Given the description of an element on the screen output the (x, y) to click on. 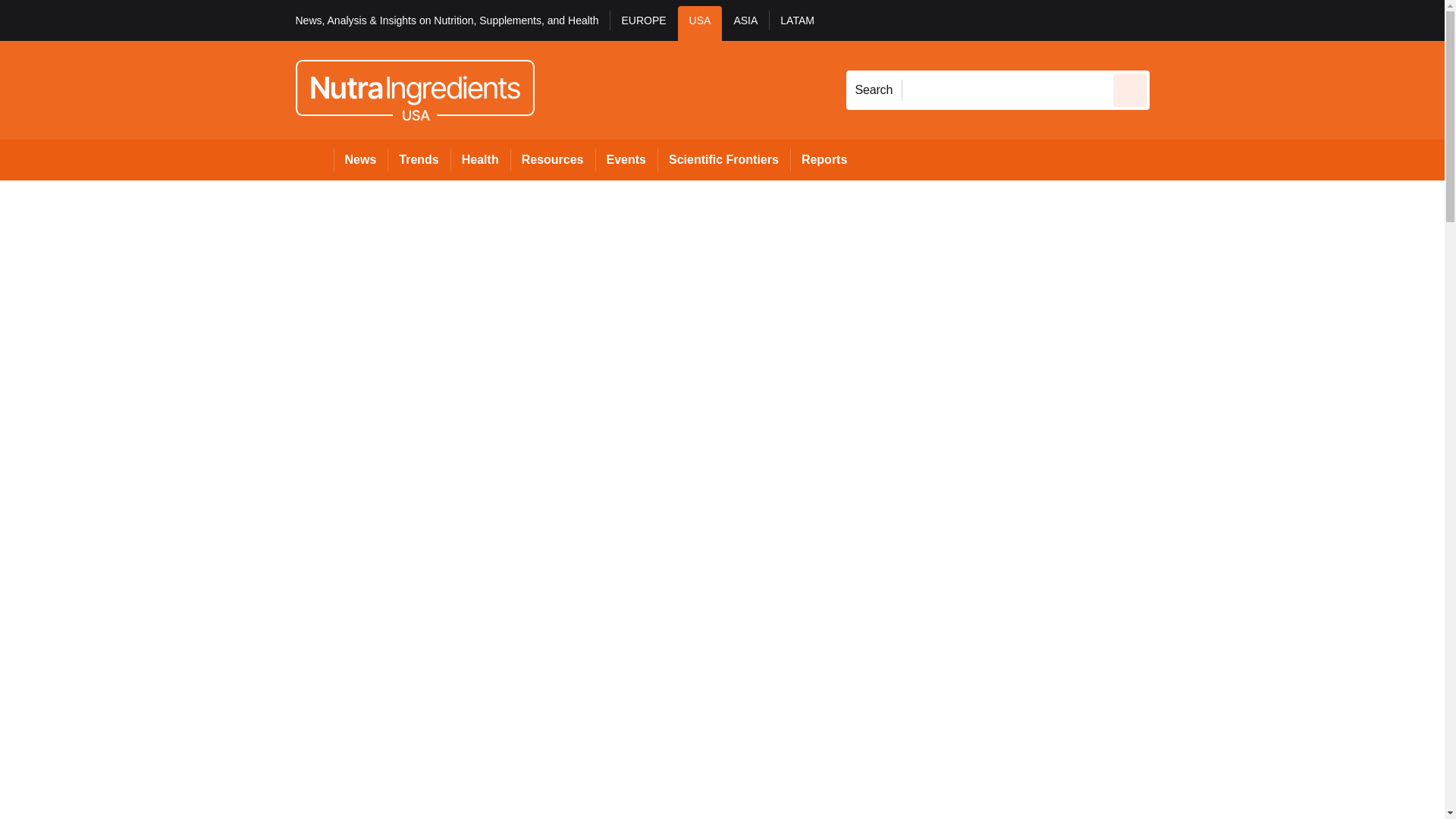
Home (313, 159)
Home (314, 159)
My account (1256, 20)
USA (700, 22)
Send (1129, 89)
ASIA (745, 22)
Register (1231, 20)
EUROPE (643, 22)
Sign in (1171, 20)
LATAM (796, 22)
